Given the description of an element on the screen output the (x, y) to click on. 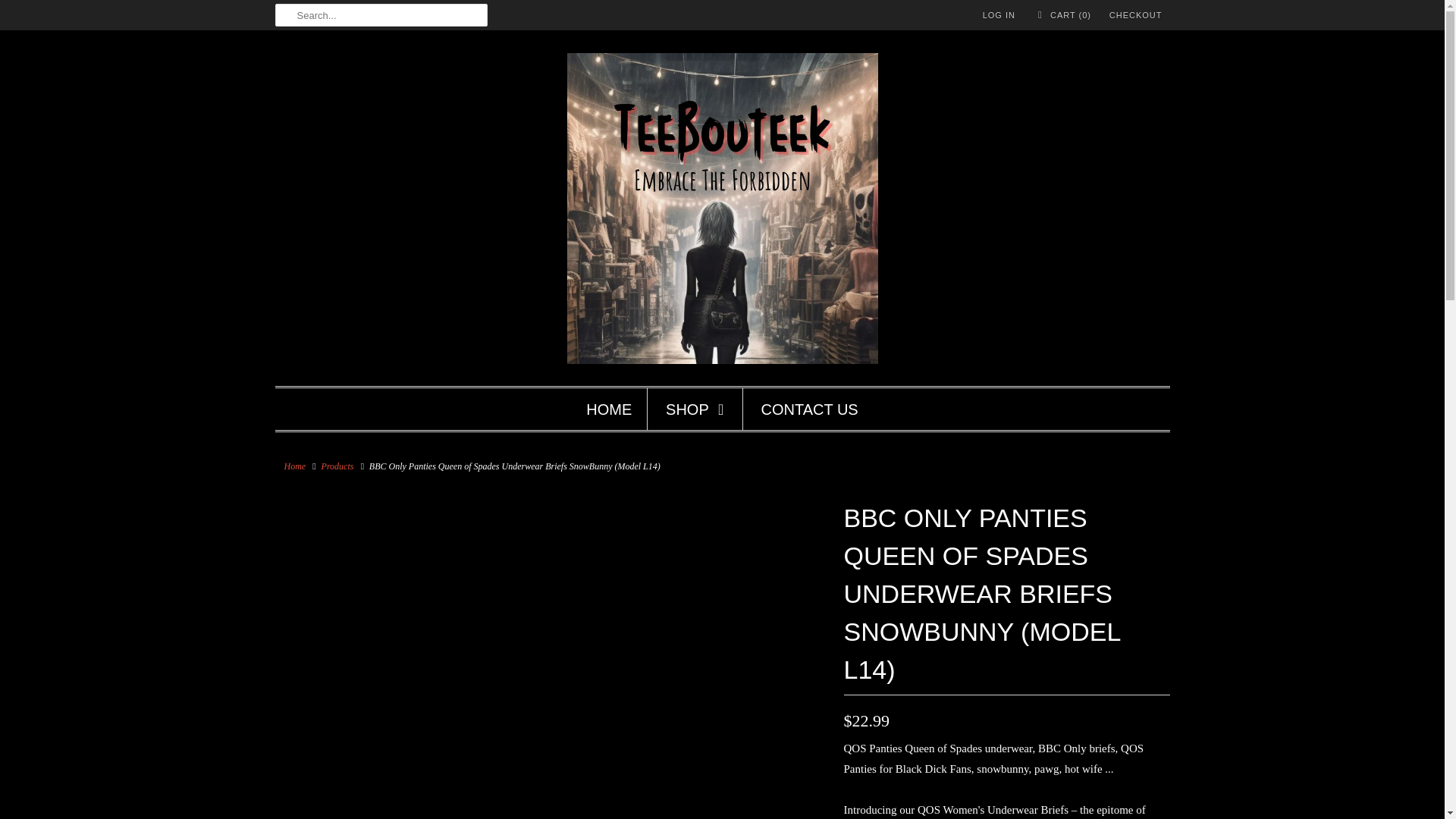
SHOP (695, 409)
Home (294, 466)
LOG IN (998, 15)
Products (337, 466)
TeeBouteek (294, 466)
CHECKOUT (1135, 15)
Products (337, 466)
CONTACT US (810, 409)
TeeBouteek (722, 212)
HOME (608, 409)
